Given the description of an element on the screen output the (x, y) to click on. 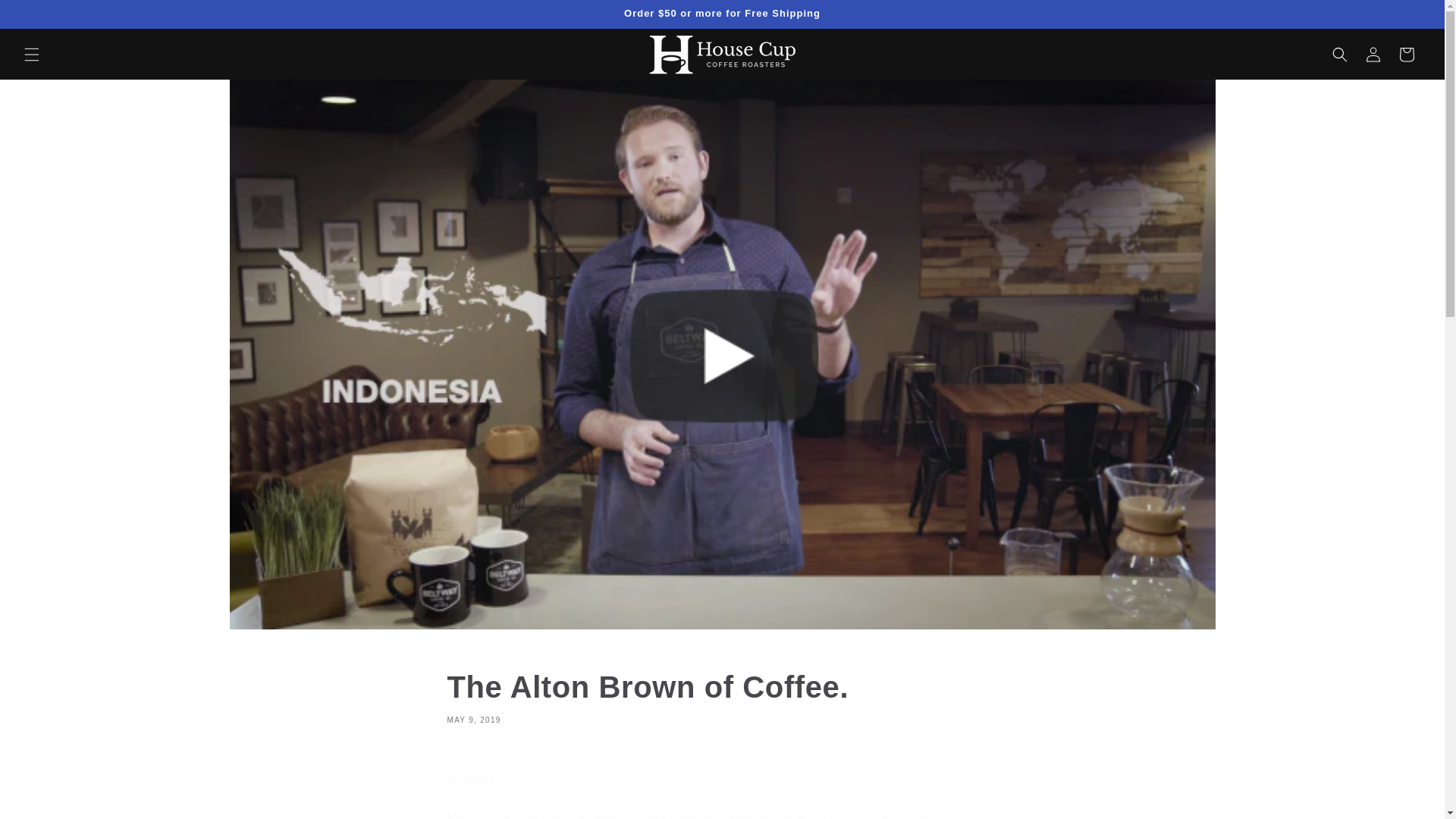
Skip to content (45, 17)
Cart (1406, 54)
Share (721, 779)
Log in (1373, 54)
